Given the description of an element on the screen output the (x, y) to click on. 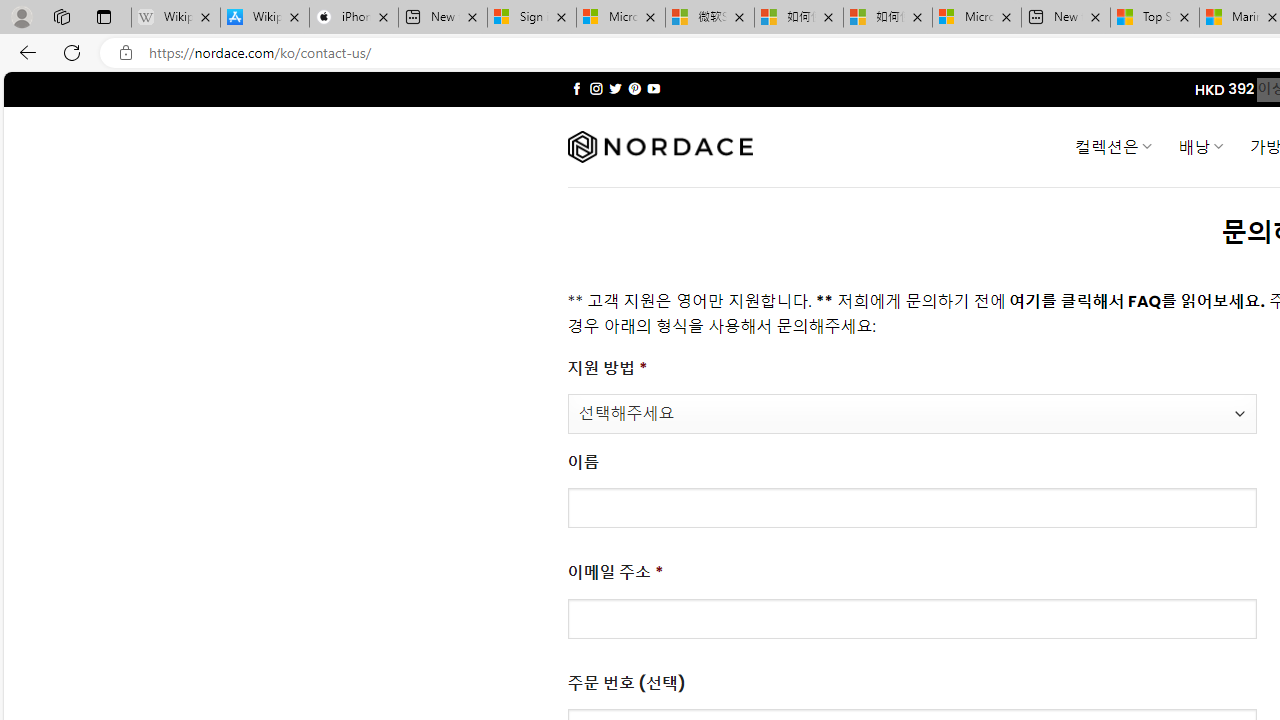
Microsoft account | Account Checkup (977, 17)
Follow on Instagram (596, 88)
Follow on Twitter (615, 88)
Follow on Facebook (576, 88)
